Given the description of an element on the screen output the (x, y) to click on. 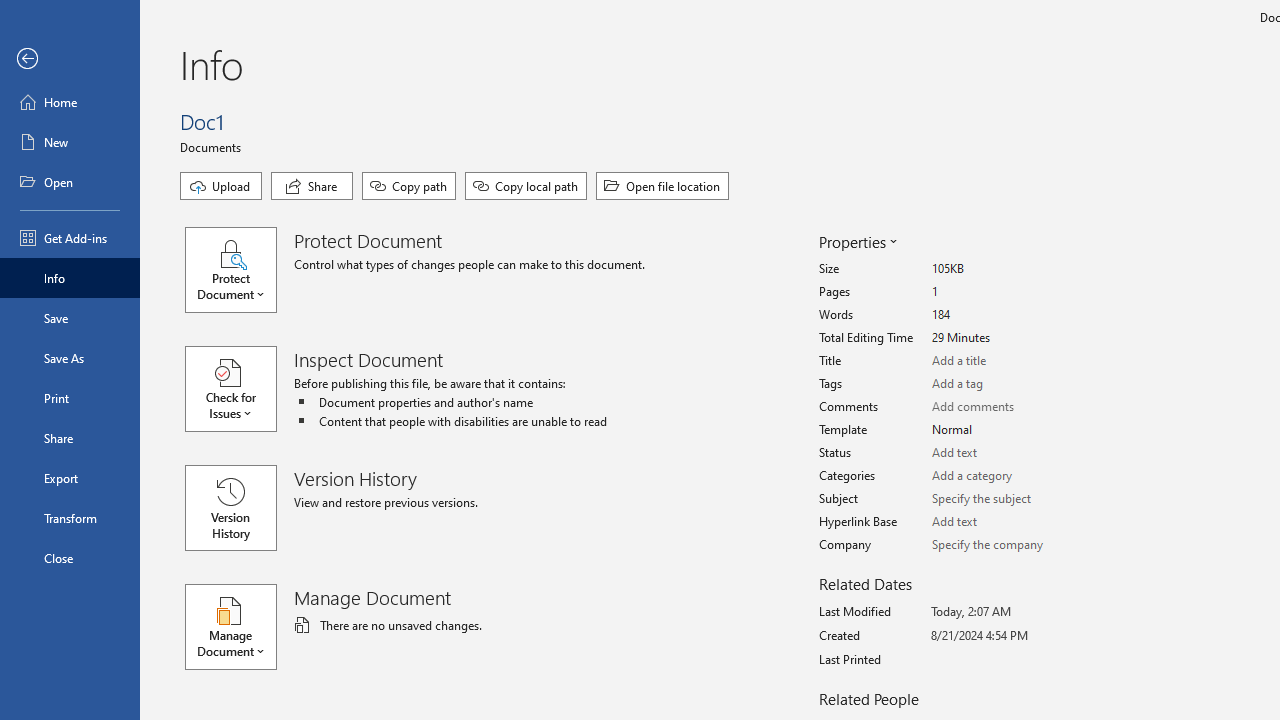
Categories (1006, 476)
Open file location (662, 186)
Title (1006, 361)
Tags (1006, 384)
Company (1006, 545)
Open (69, 182)
Print (69, 398)
Upload (221, 186)
